Given the description of an element on the screen output the (x, y) to click on. 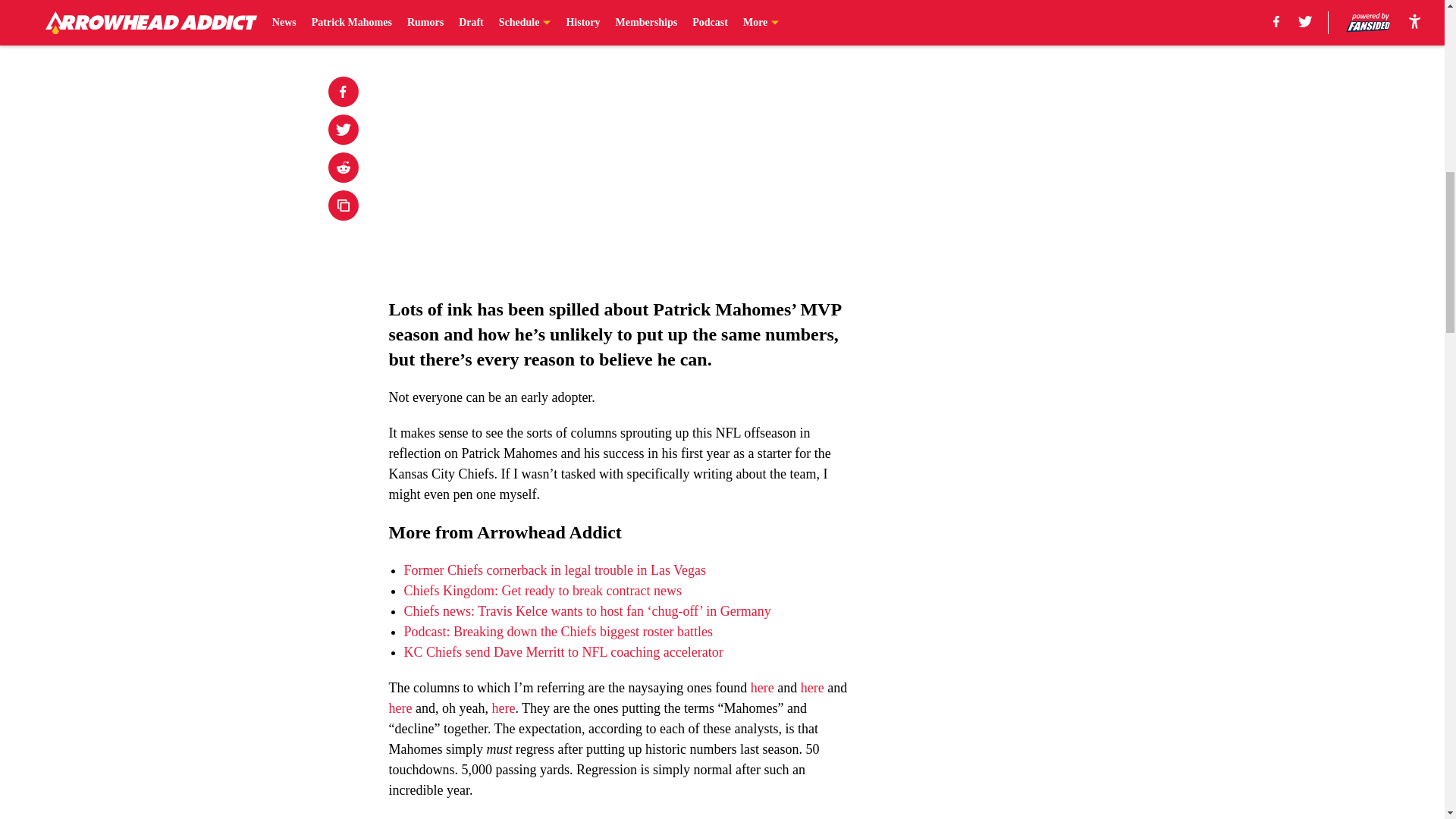
here (400, 708)
KC Chiefs send Dave Merritt to NFL coaching accelerator (562, 652)
Former Chiefs cornerback in legal trouble in Las Vegas (554, 570)
here (503, 708)
Podcast: Breaking down the Chiefs biggest roster battles (557, 631)
Chiefs Kingdom: Get ready to break contract news (542, 590)
here (762, 687)
here (812, 687)
